Given the description of an element on the screen output the (x, y) to click on. 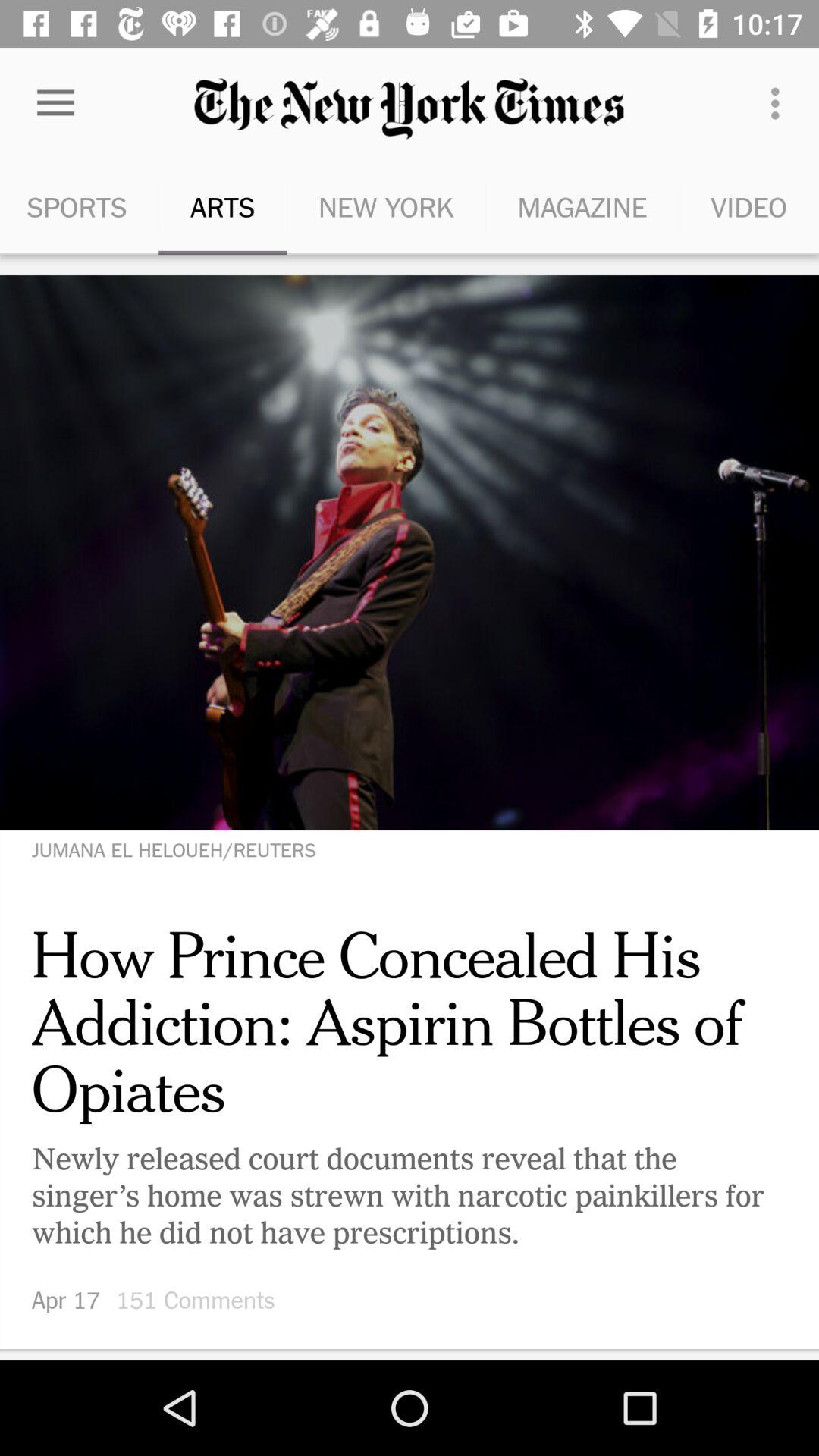
select the item next to arts icon (79, 206)
